Given the description of an element on the screen output the (x, y) to click on. 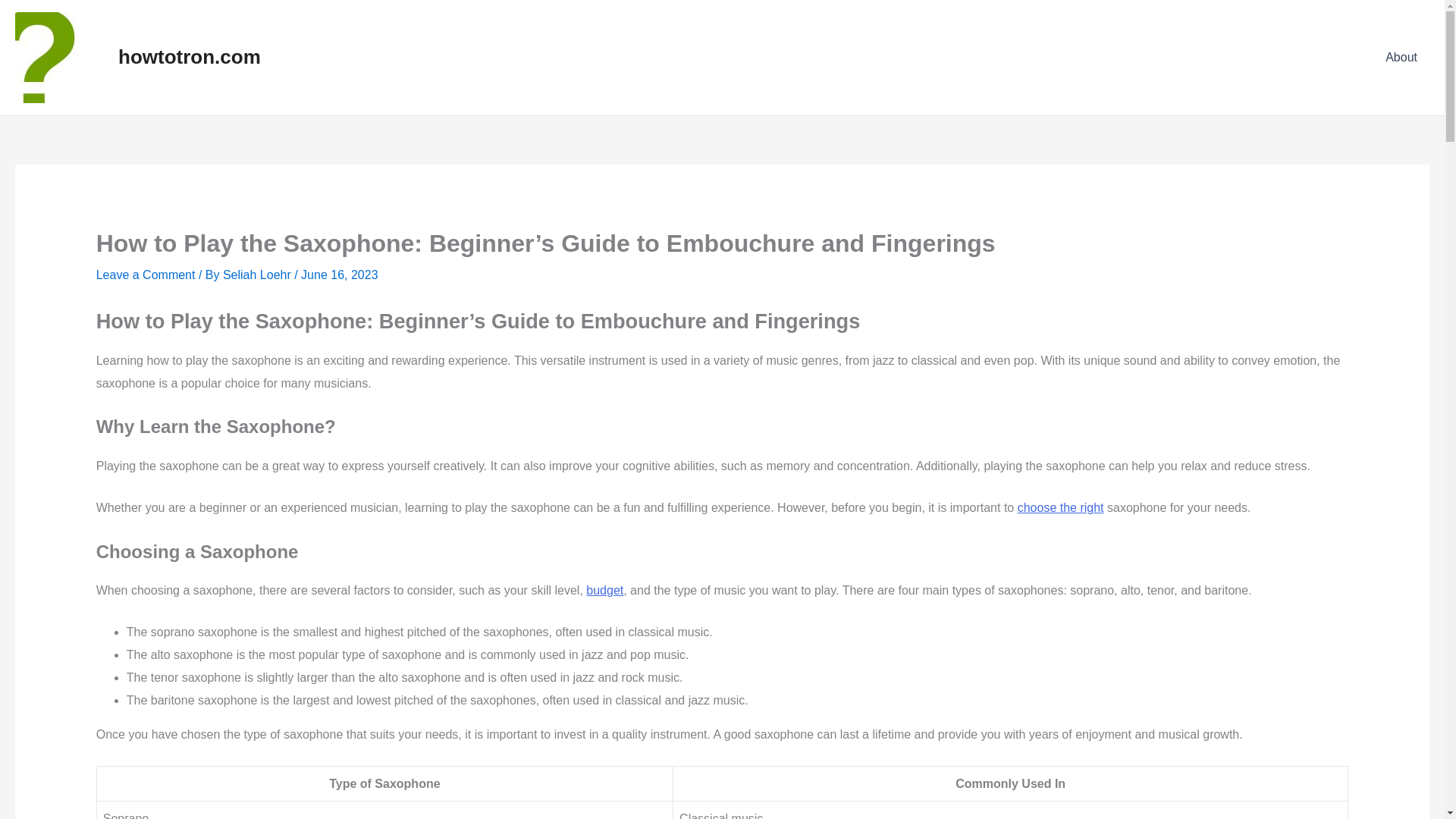
budget (604, 590)
About (1401, 57)
howtotron.com (188, 56)
choose the right (1060, 507)
Seliah Loehr (258, 274)
View all posts by Seliah Loehr (258, 274)
Leave a Comment (145, 274)
